Given the description of an element on the screen output the (x, y) to click on. 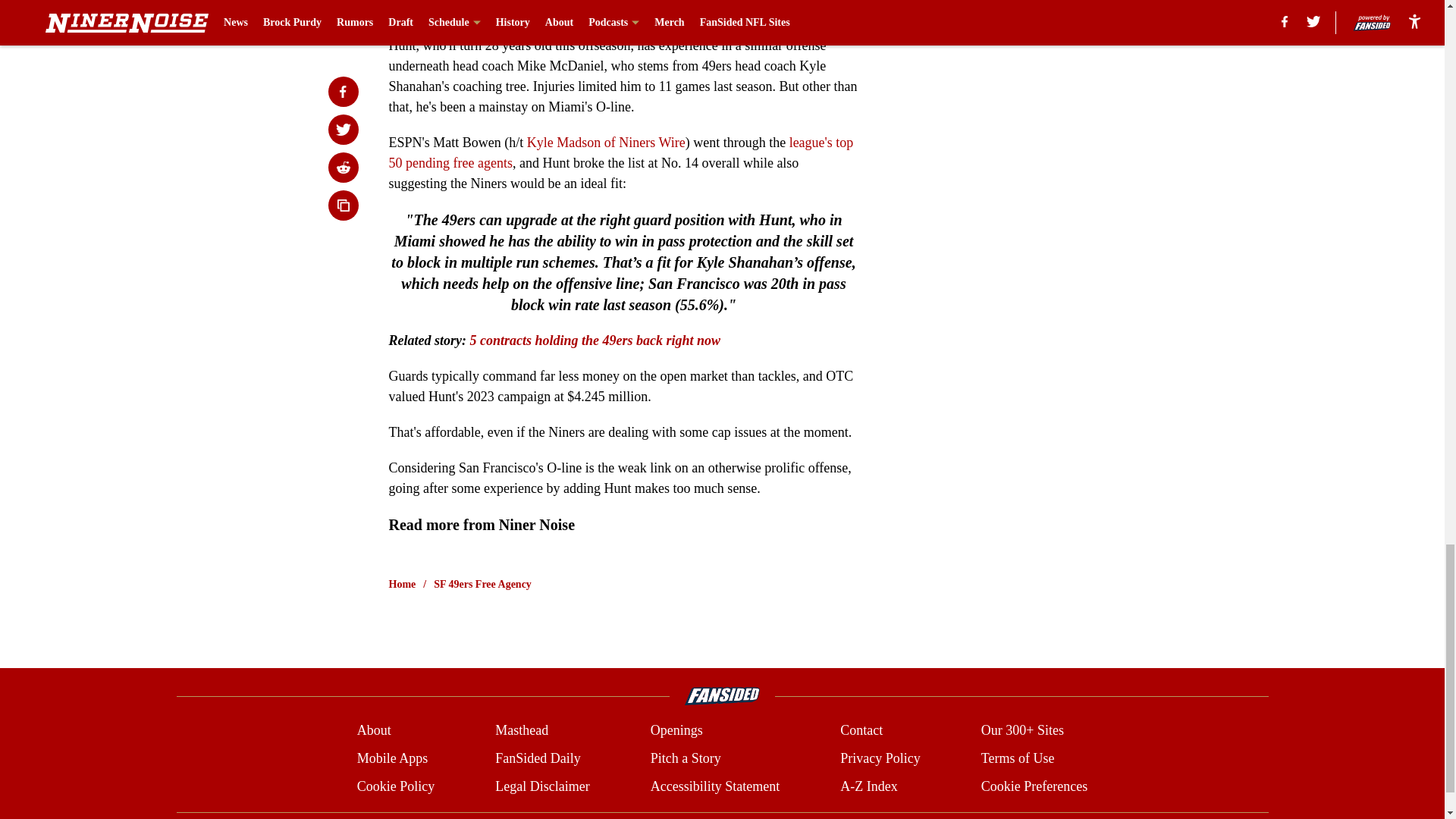
Mobile Apps (392, 758)
Masthead (521, 730)
Home (401, 584)
Contact (861, 730)
Openings (676, 730)
Kyle Madson of Niners Wire (606, 142)
5 contracts holding the 49ers back right now (594, 340)
FanSided Daily (537, 758)
league's top 50 pending free agents (620, 152)
SF 49ers Free Agency (482, 584)
About (373, 730)
